Given the description of an element on the screen output the (x, y) to click on. 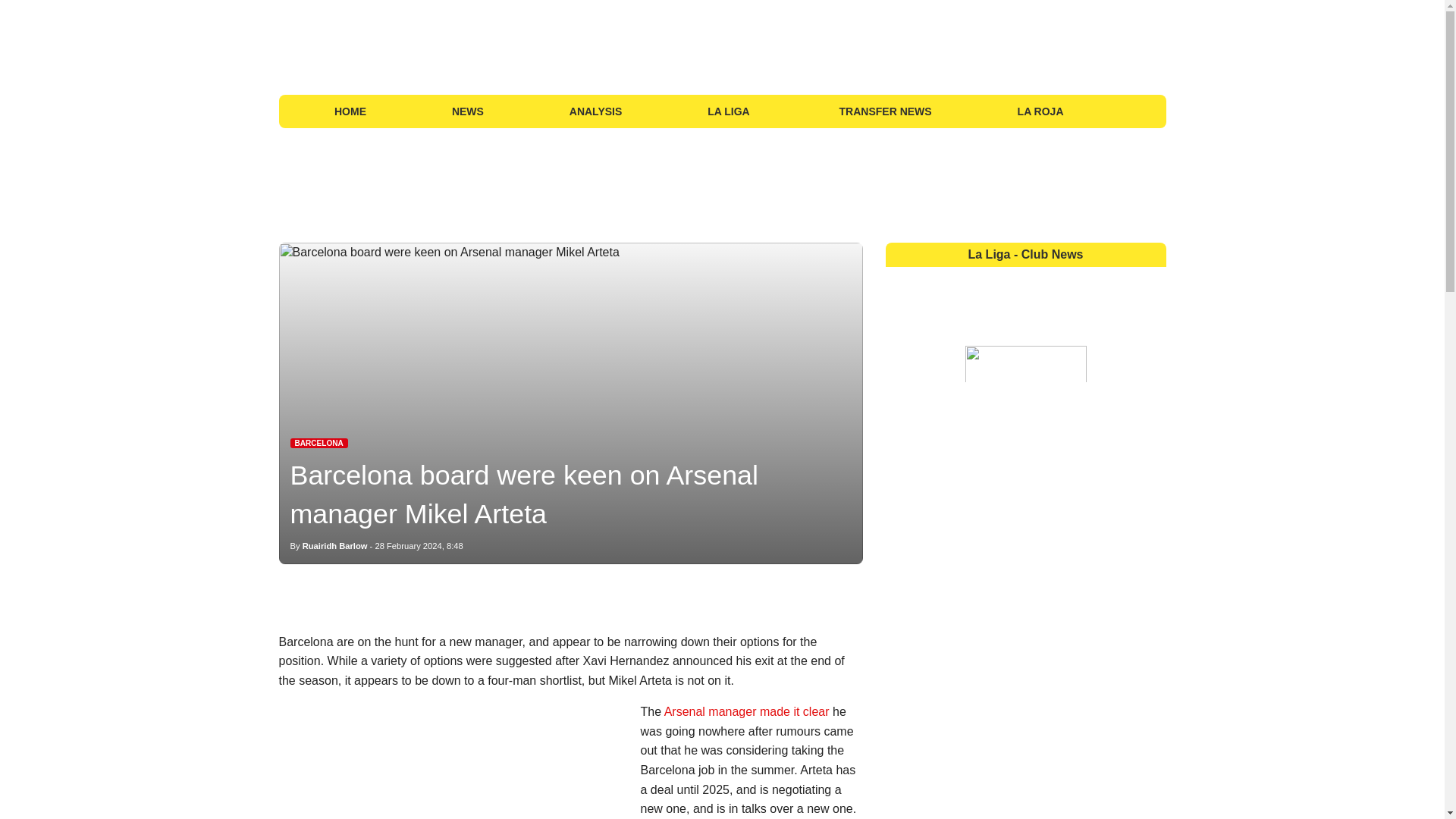
ANALYSIS (595, 111)
NEWS (468, 111)
Search (1147, 111)
TRANSFER NEWS (885, 111)
La Liga Fixtures (1125, 111)
HOME (350, 111)
LA ROJA (1040, 111)
Latest Barcelona News (318, 442)
LA LIGA (729, 111)
